Given the description of an element on the screen output the (x, y) to click on. 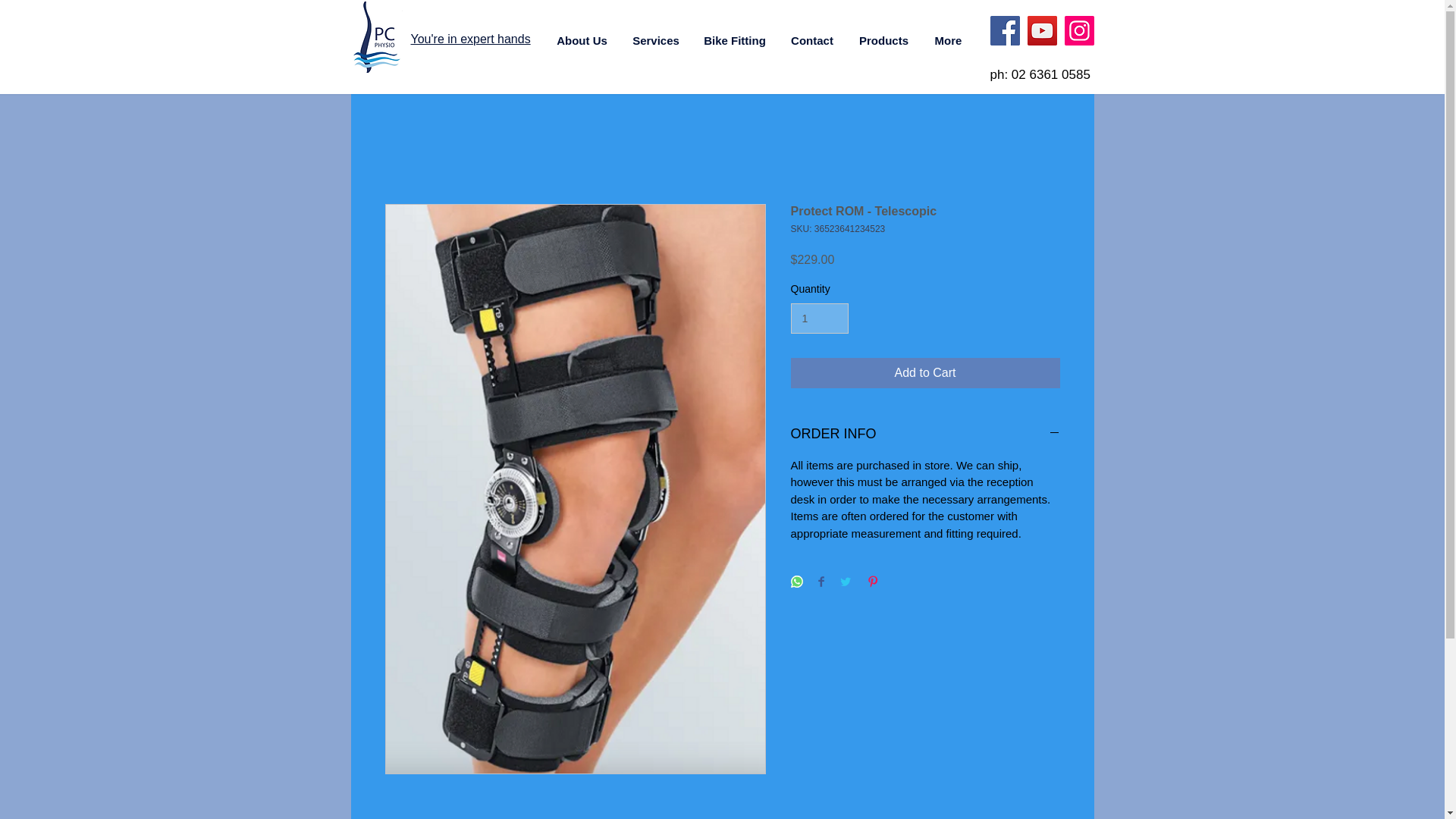
About Us (582, 40)
Products (882, 40)
Add to Cart (924, 372)
Bike Fitting (734, 40)
You're in expert hands (470, 38)
Contact (812, 40)
Services (656, 40)
ORDER INFO (924, 434)
1 (818, 318)
